Given the description of an element on the screen output the (x, y) to click on. 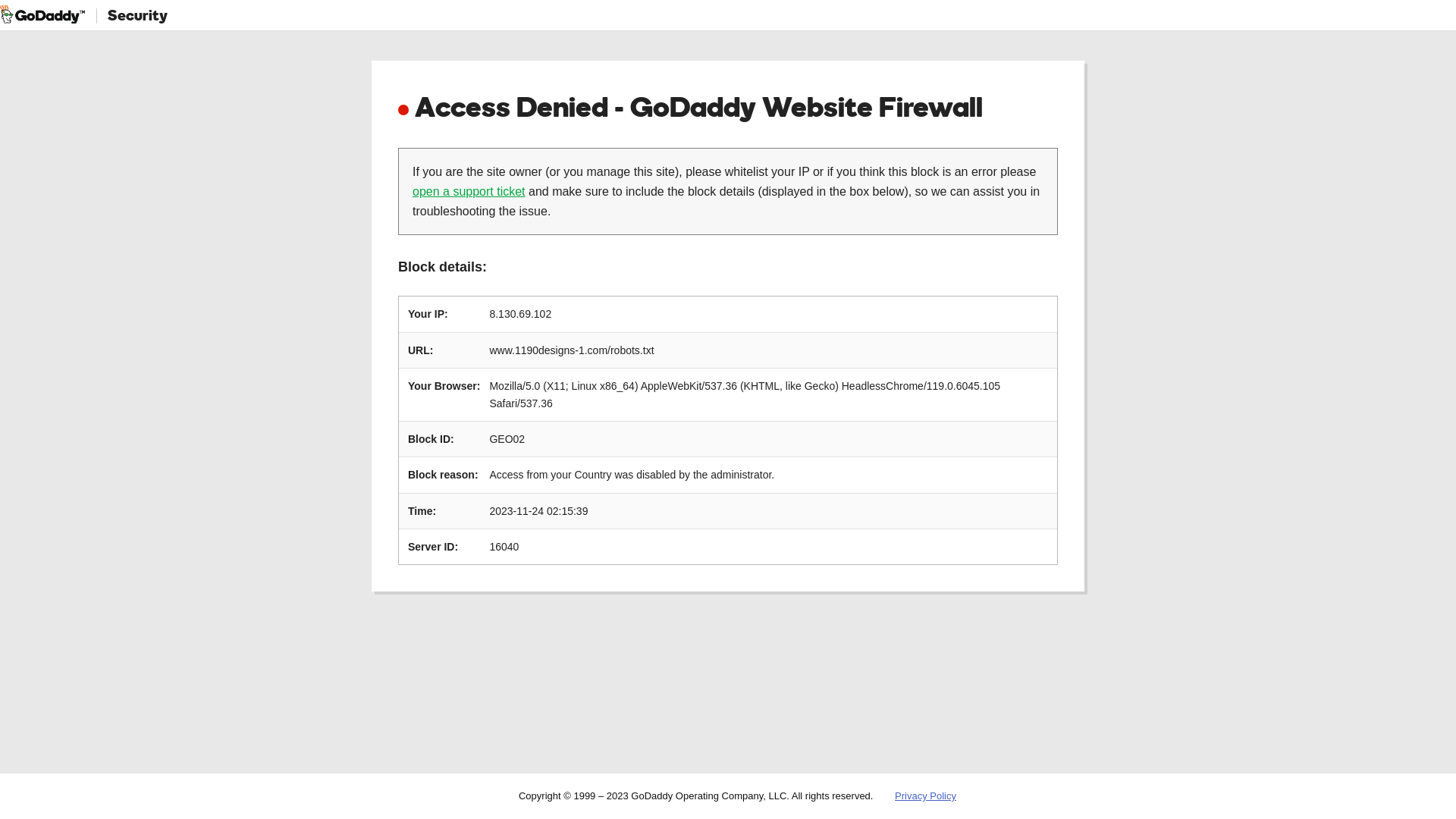
open a support ticket Element type: text (468, 191)
Privacy Policy Element type: text (925, 795)
